Given the description of an element on the screen output the (x, y) to click on. 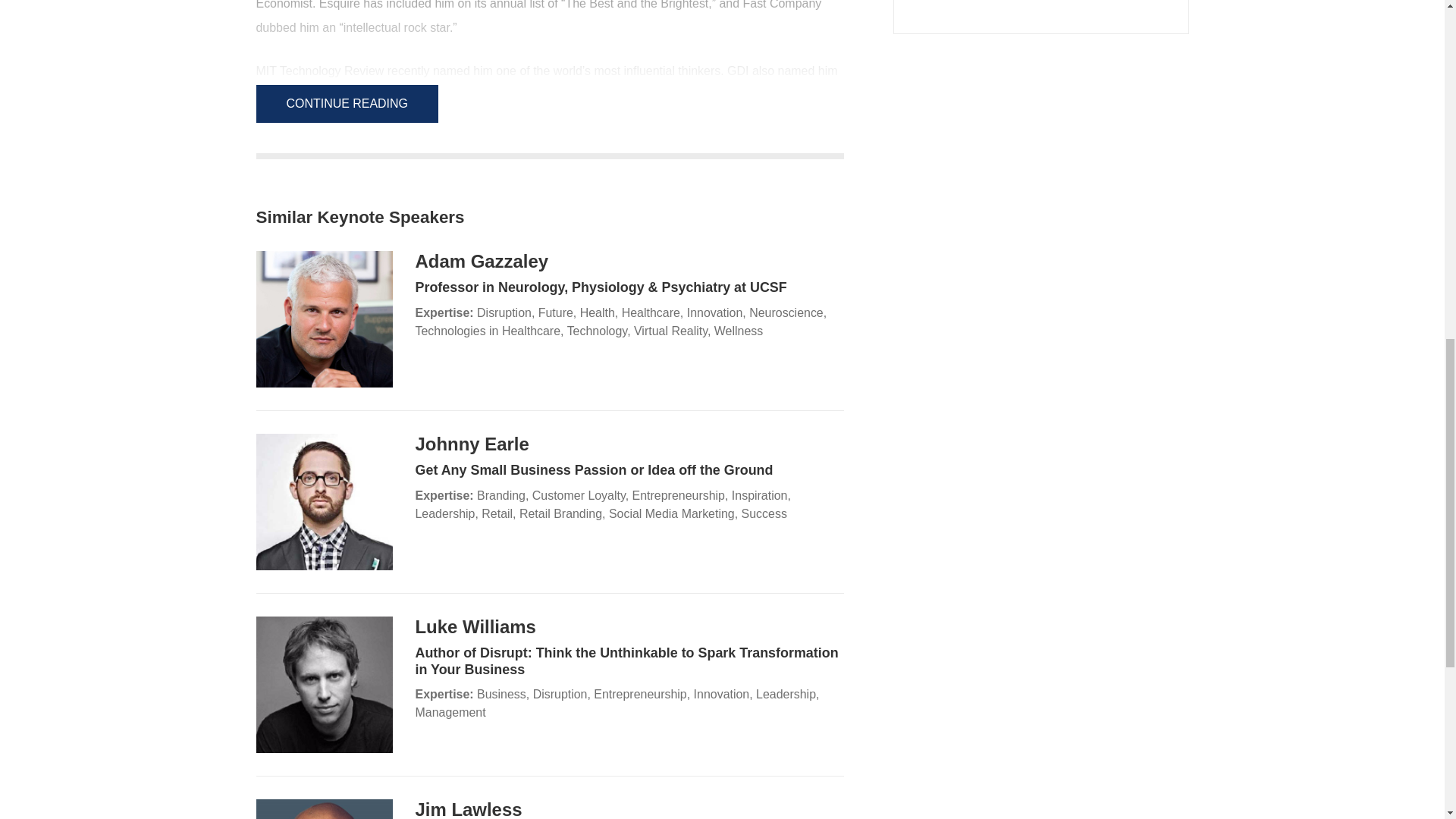
Adam Gazzaley (481, 260)
CONTINUE READING (347, 103)
Johnny Earle (471, 444)
